Given the description of an element on the screen output the (x, y) to click on. 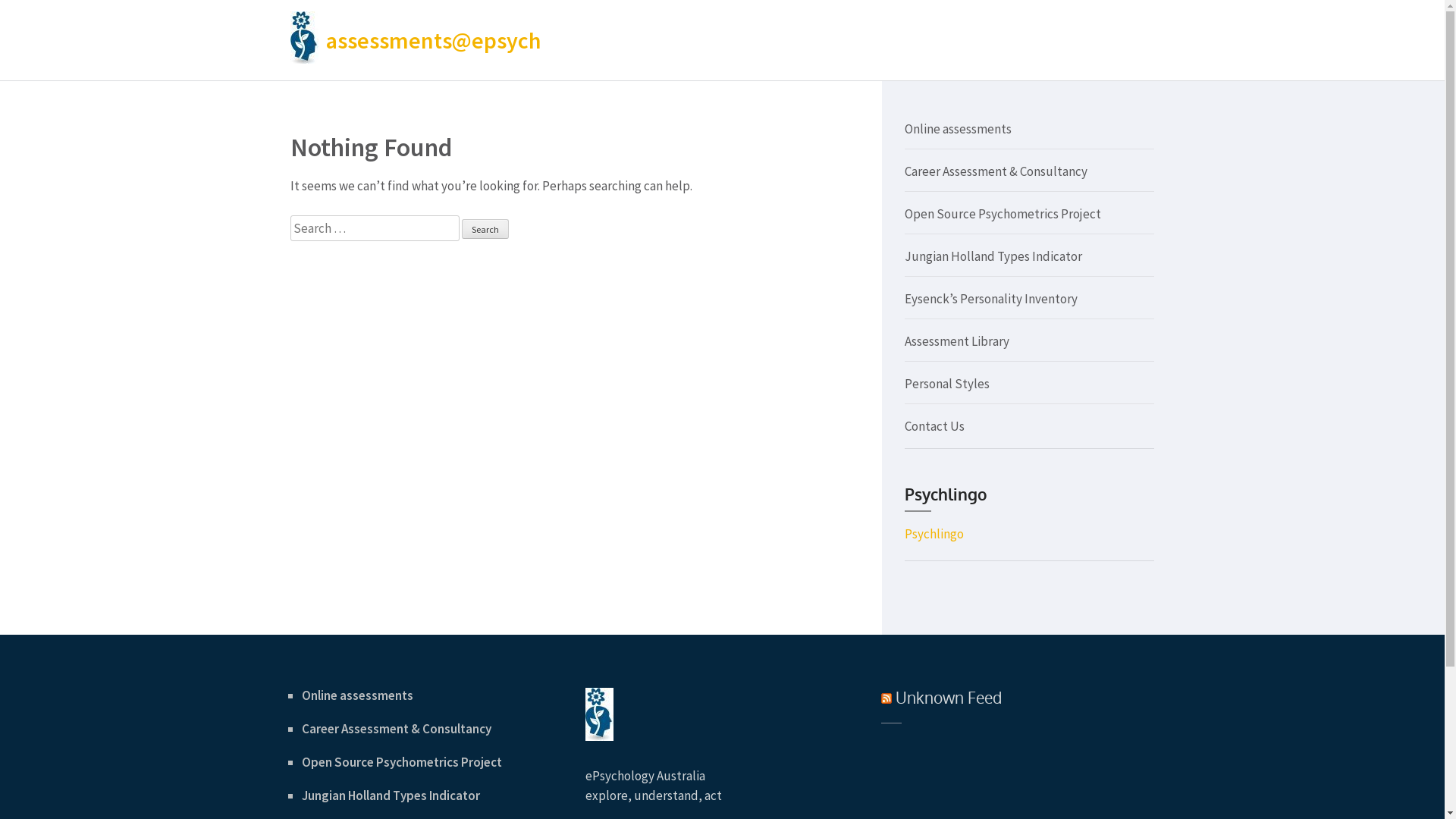
Contact Us Element type: text (933, 425)
Psychlingo  Element type: text (934, 533)
Open Source Psychometrics Project Element type: text (1001, 213)
Jungian Holland Types Indicator Element type: text (992, 255)
Jungian Holland Types Indicator Element type: text (390, 795)
Unknown Feed Element type: text (948, 697)
Online assessments Element type: text (357, 695)
Career Assessment & Consultancy Element type: text (994, 171)
assessments@epsych Element type: text (433, 39)
Search Element type: text (484, 228)
Assessment Library Element type: text (955, 340)
ePsychology Australia Element type: text (645, 775)
Personal Styles Element type: text (945, 383)
Open Source Psychometrics Project Element type: text (401, 761)
Career Assessment & Consultancy Element type: text (396, 728)
Online assessments Element type: text (956, 128)
